Given the description of an element on the screen output the (x, y) to click on. 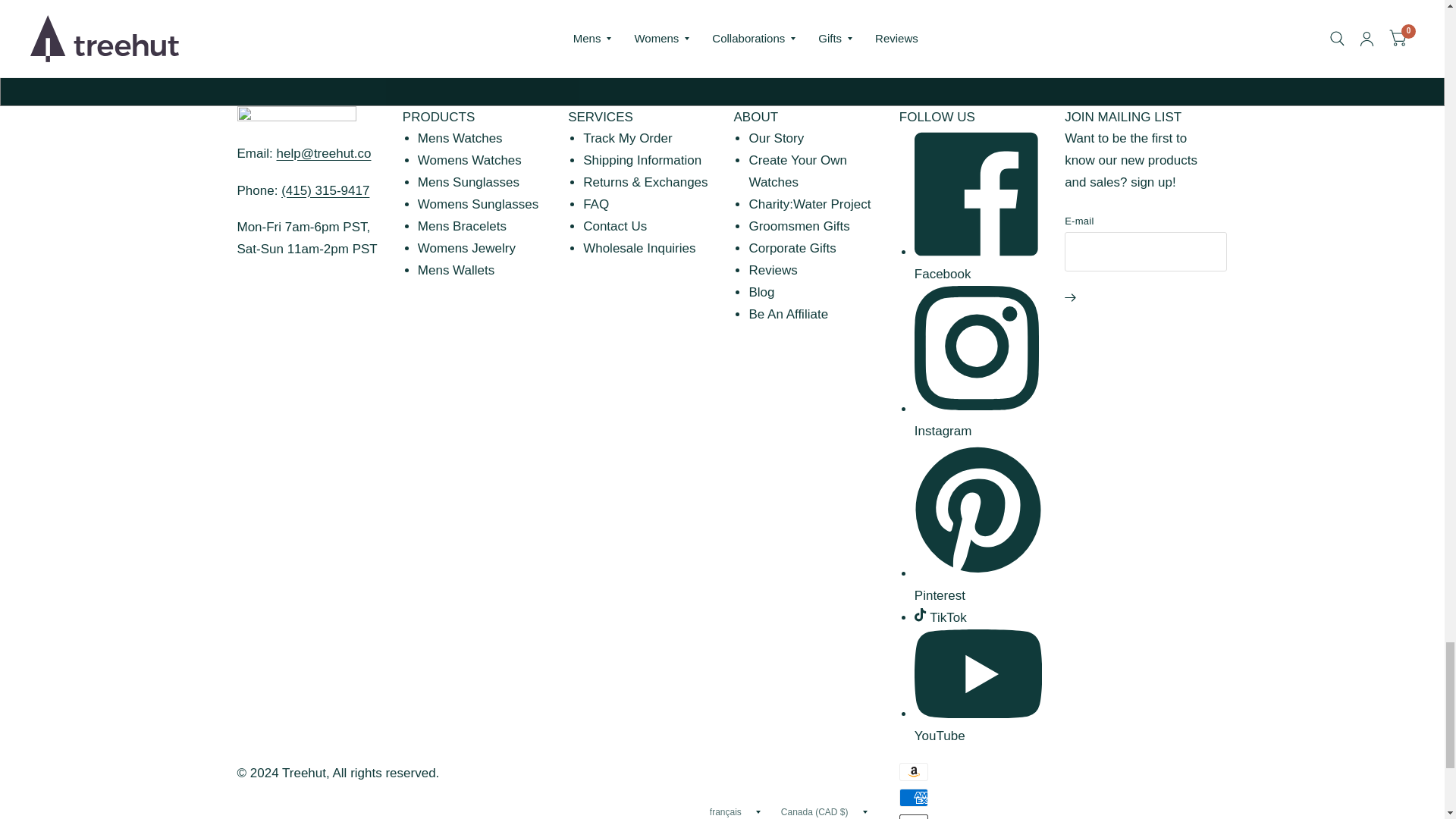
American Express (913, 797)
Apple Pay (913, 816)
Amazon (913, 771)
